Given the description of an element on the screen output the (x, y) to click on. 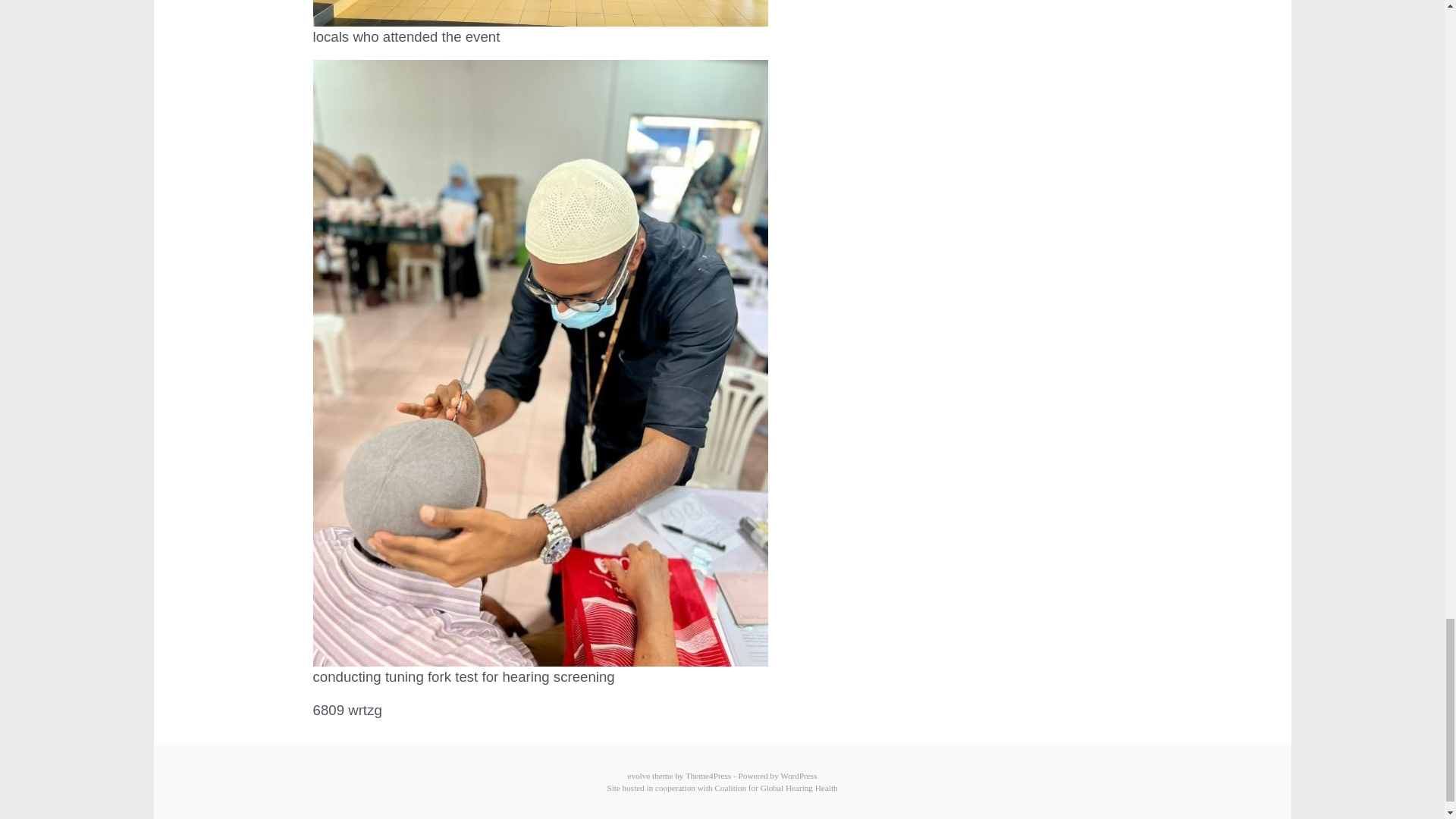
evolve (638, 775)
Coalition for Global Hearing Health (775, 787)
WordPress (798, 775)
